Given the description of an element on the screen output the (x, y) to click on. 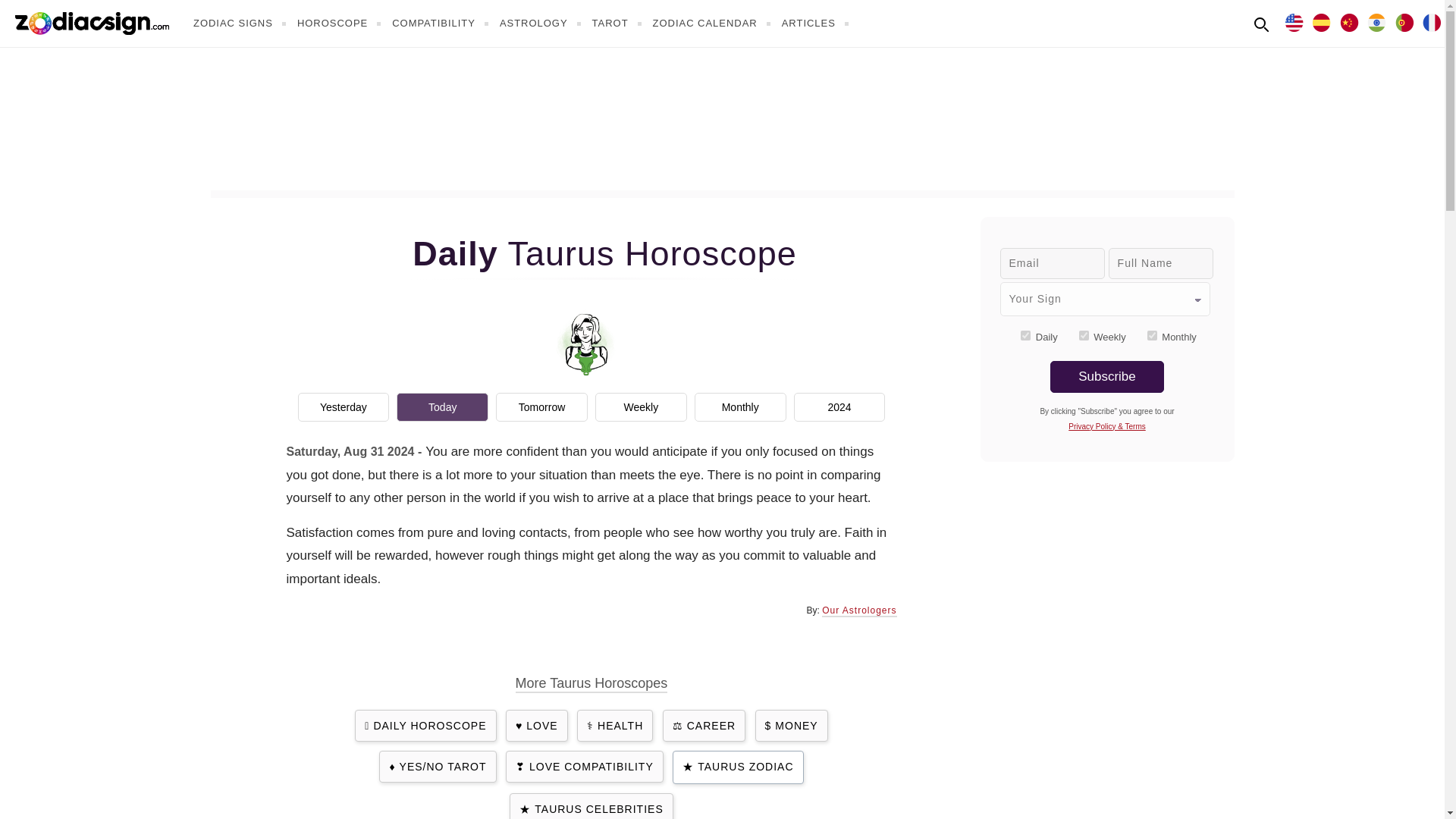
HOROSCOPE (341, 23)
daily (1025, 335)
ZODIAC SIGNS (241, 23)
weekly (1083, 335)
monthly (1152, 335)
In English (1294, 21)
